Given the description of an element on the screen output the (x, y) to click on. 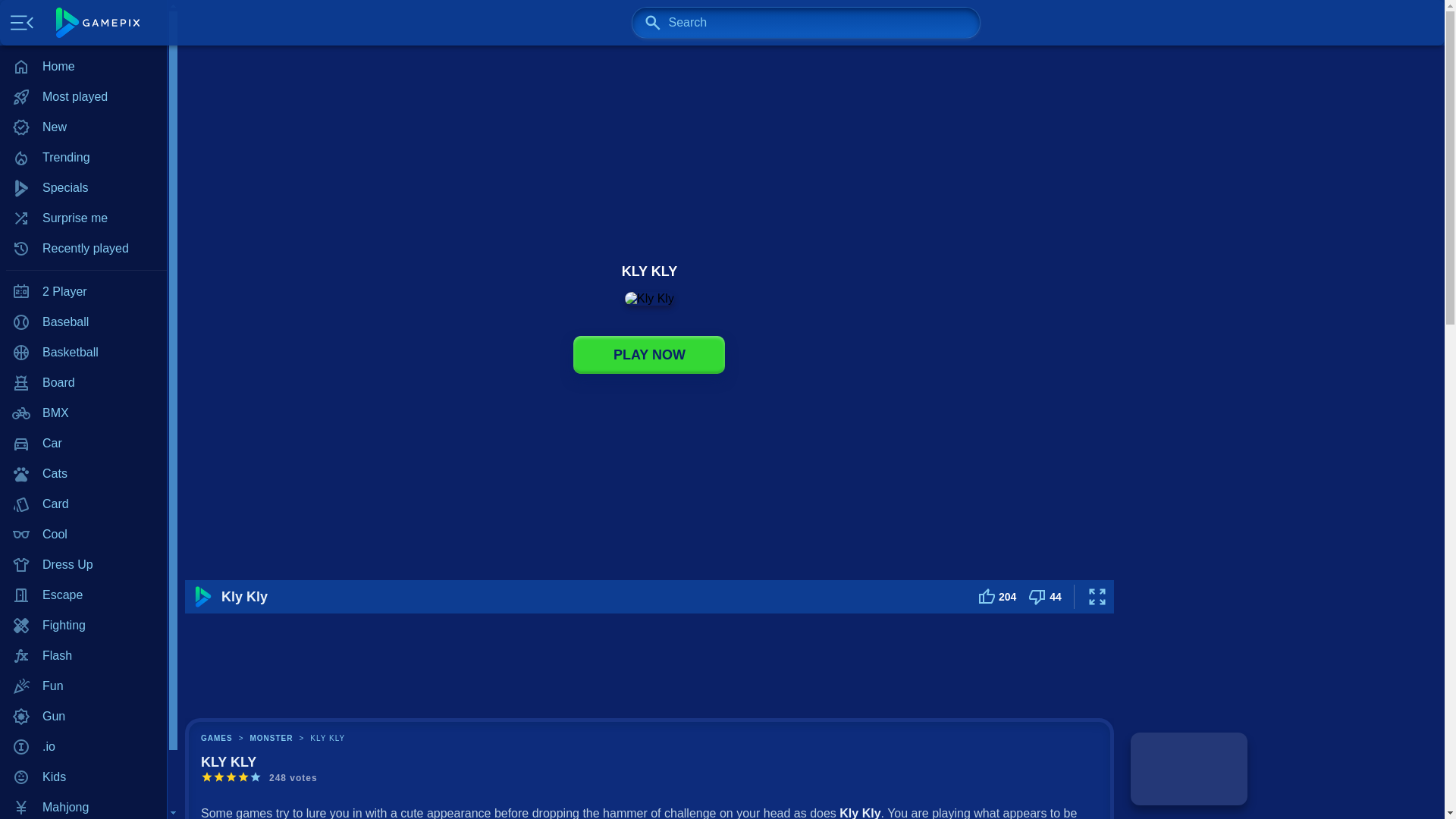
Recently played (83, 248)
Cool (83, 534)
Escape (83, 594)
Fun (83, 685)
Card (83, 503)
2 Player (83, 291)
Board (83, 382)
Car (83, 443)
Dress Up (83, 564)
Specials (83, 187)
Gun (83, 716)
Trending (83, 157)
2 Player (83, 291)
Baseball (83, 322)
Cats (83, 473)
